Given the description of an element on the screen output the (x, y) to click on. 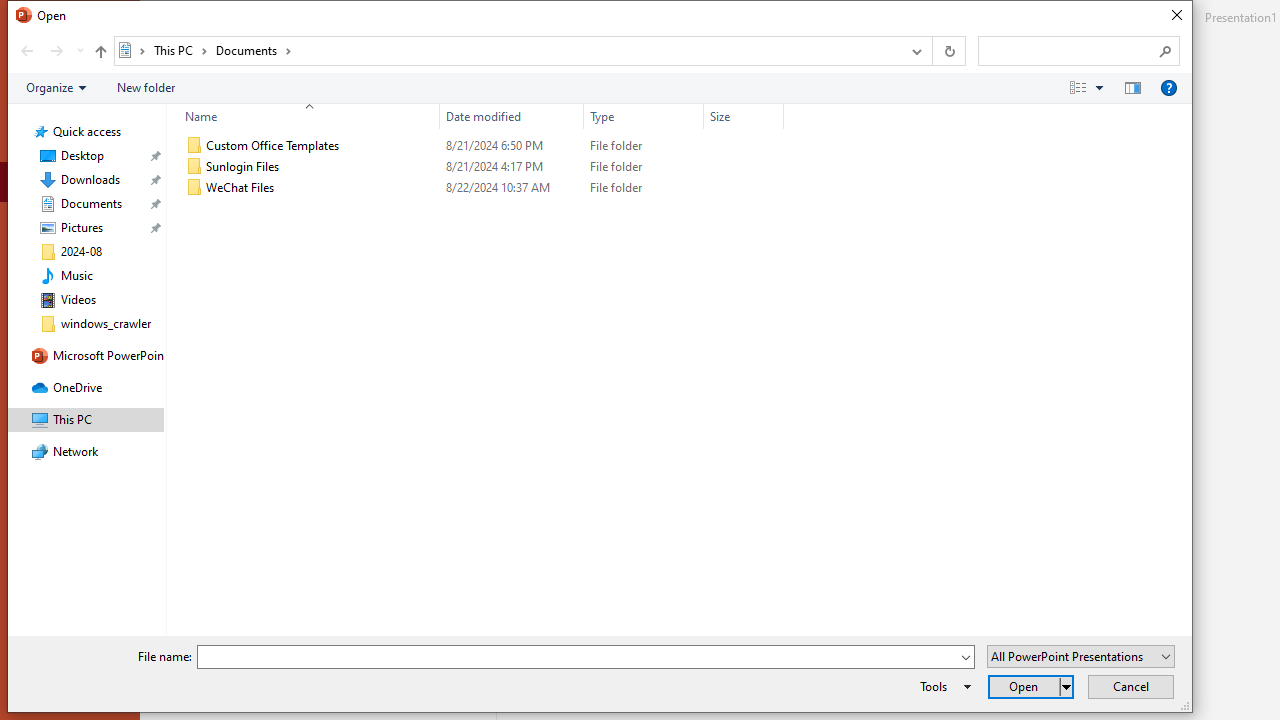
Organize (56, 87)
File name: (586, 656)
Recent locations (79, 51)
Files of type: (1080, 656)
Size (743, 187)
Filter dropdown (775, 115)
File name: (577, 657)
Custom Office Templates (480, 145)
Name (321, 187)
Navigation buttons (50, 51)
Up band toolbar (100, 54)
New folder (145, 87)
This PC (180, 50)
&Help (1168, 87)
